Given the description of an element on the screen output the (x, y) to click on. 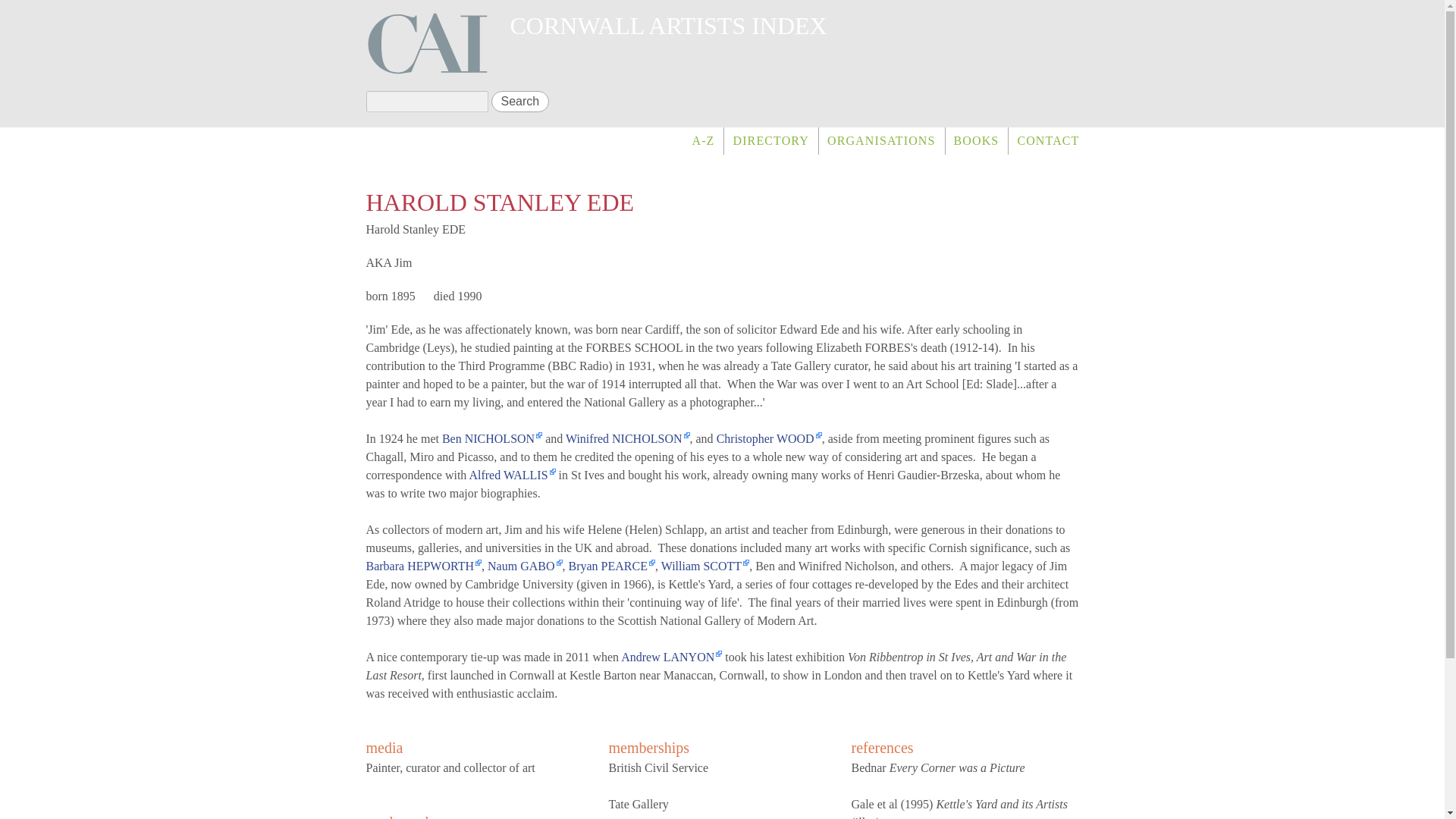
Barbara HEPWORTH (423, 565)
William SCOTT (705, 565)
Alfred WALLIS (511, 474)
Alfred WALLIS (511, 474)
Andrew LANYON (671, 656)
ORGANISATIONS (881, 140)
Naum GABO (524, 565)
Bryan PEARCE (612, 565)
Bryan PEARCE (612, 565)
Search (521, 101)
Enter the terms you wish to search for. (426, 101)
CONTACT (1042, 140)
A listing with biographical information of Cornwall Artists (770, 140)
Home page (668, 25)
